Given the description of an element on the screen output the (x, y) to click on. 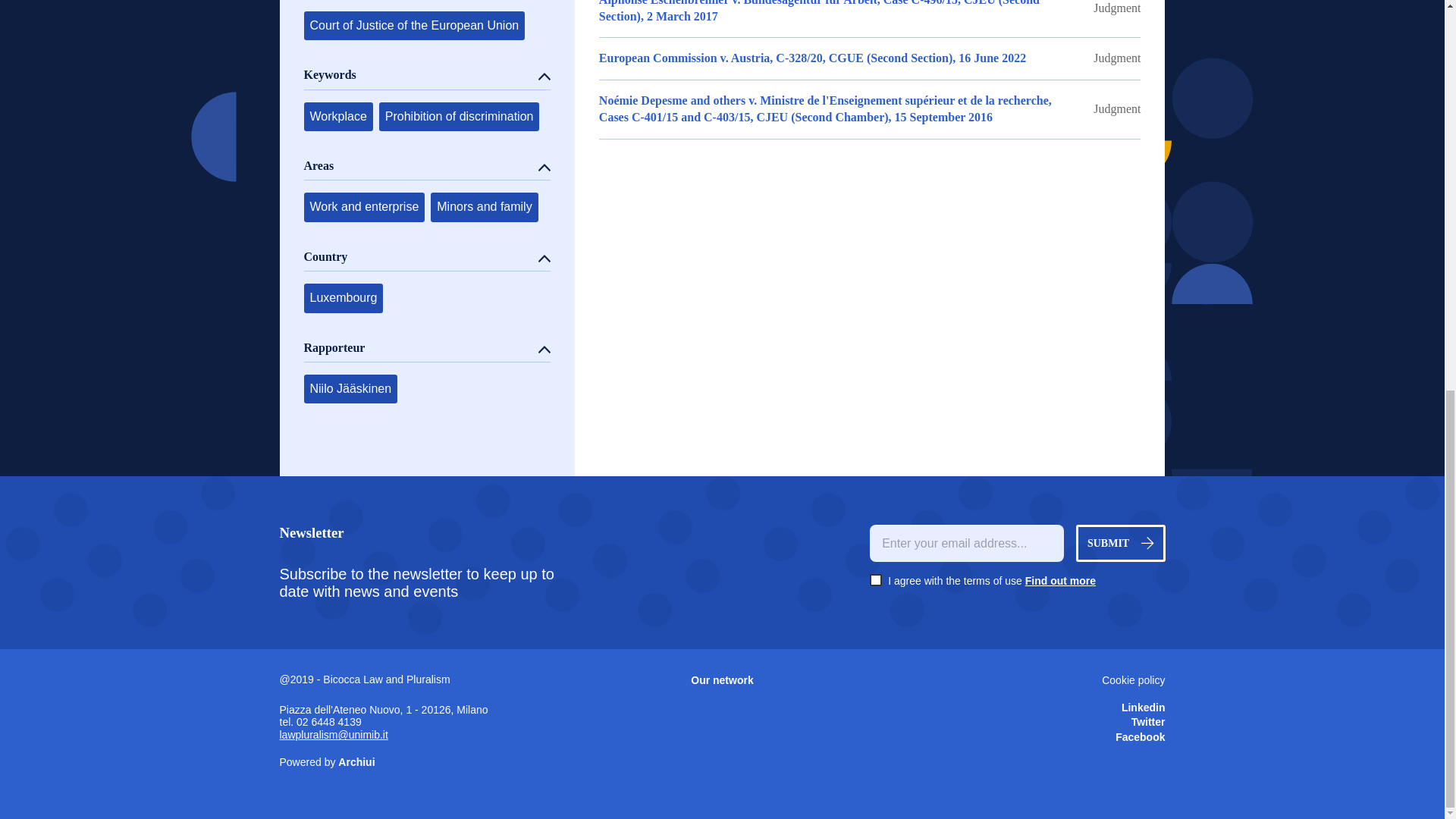
Linkedin (1016, 708)
Luxembourg (342, 297)
Workplace (337, 116)
Twitter (1016, 722)
Court of Justice of the European Union (413, 25)
Minors and family (483, 206)
Work and enterprise (363, 206)
Archiui (355, 761)
Cookie policy (1016, 680)
Our network (722, 680)
